Given the description of an element on the screen output the (x, y) to click on. 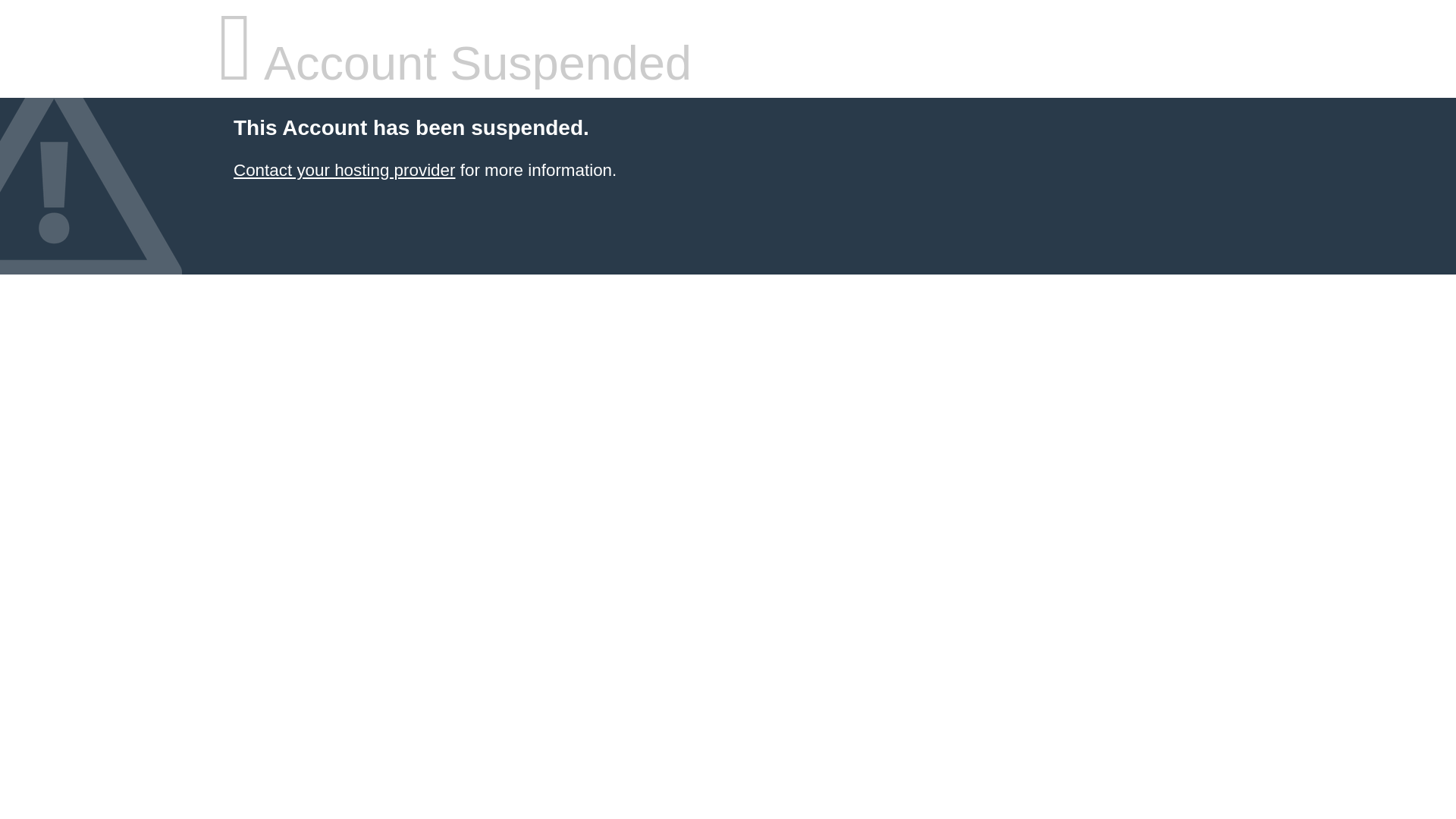
Contact your hosting provider (343, 169)
